Given the description of an element on the screen output the (x, y) to click on. 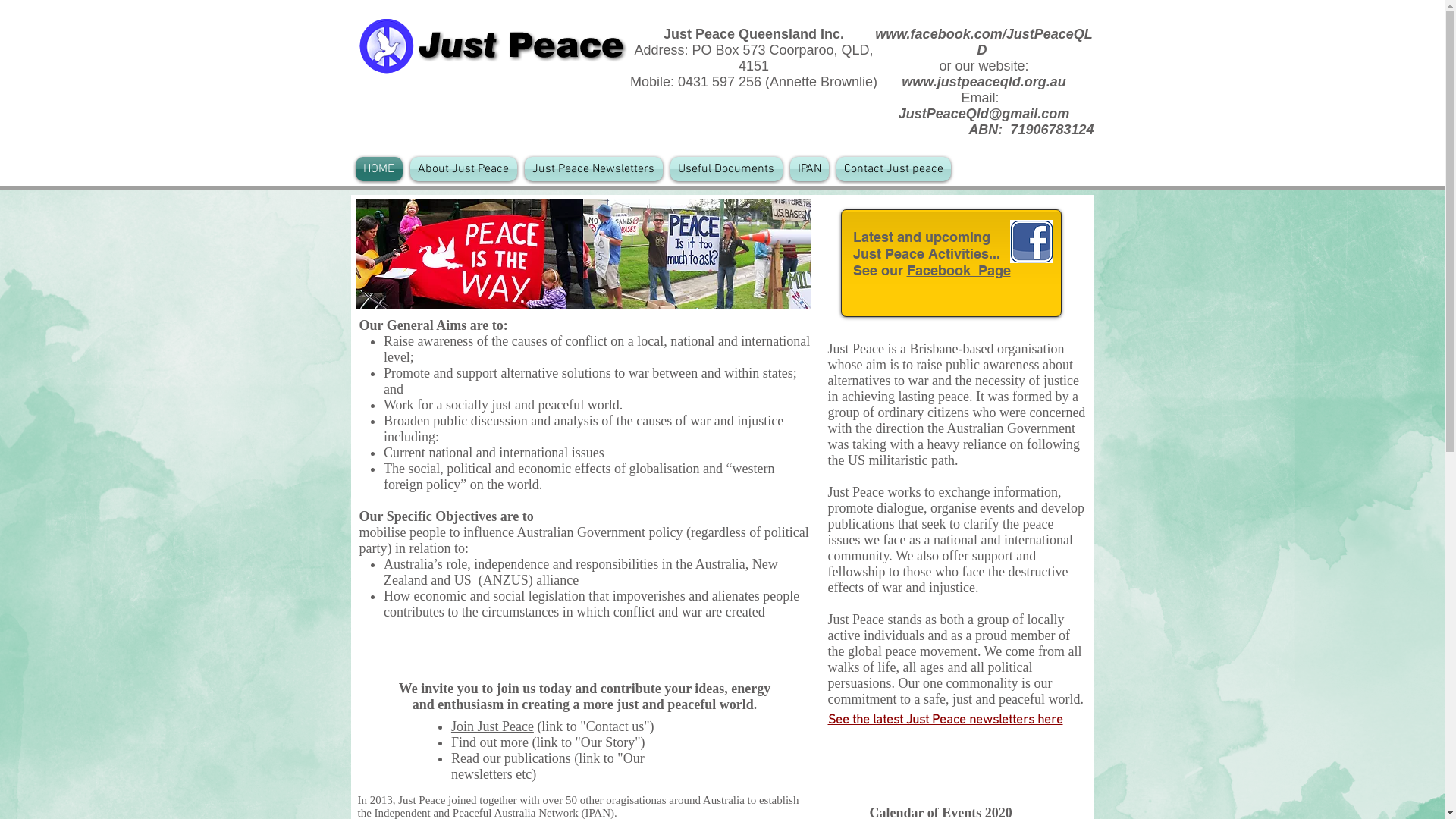
Read our publications Element type: text (511, 757)
HOME Element type: text (379, 168)
Find out more Element type: text (489, 741)
About Just Peace Element type: text (463, 168)
Contact Just peace Element type: text (891, 168)
Just Peace Newsletters Element type: text (592, 168)
See the latest Just Peace newsletters here Element type: text (945, 720)
Useful Documents Element type: text (725, 168)
IPAN Element type: text (808, 168)
Join Just Peace Element type: text (492, 726)
JustPeaceQld@gmail.com Element type: text (984, 113)
www.facebook.com/JustPeaceQLD Element type: text (983, 41)
Facebook  Page Element type: text (958, 270)
www.justpeaceqld.org.au Element type: text (983, 81)
